Given the description of an element on the screen output the (x, y) to click on. 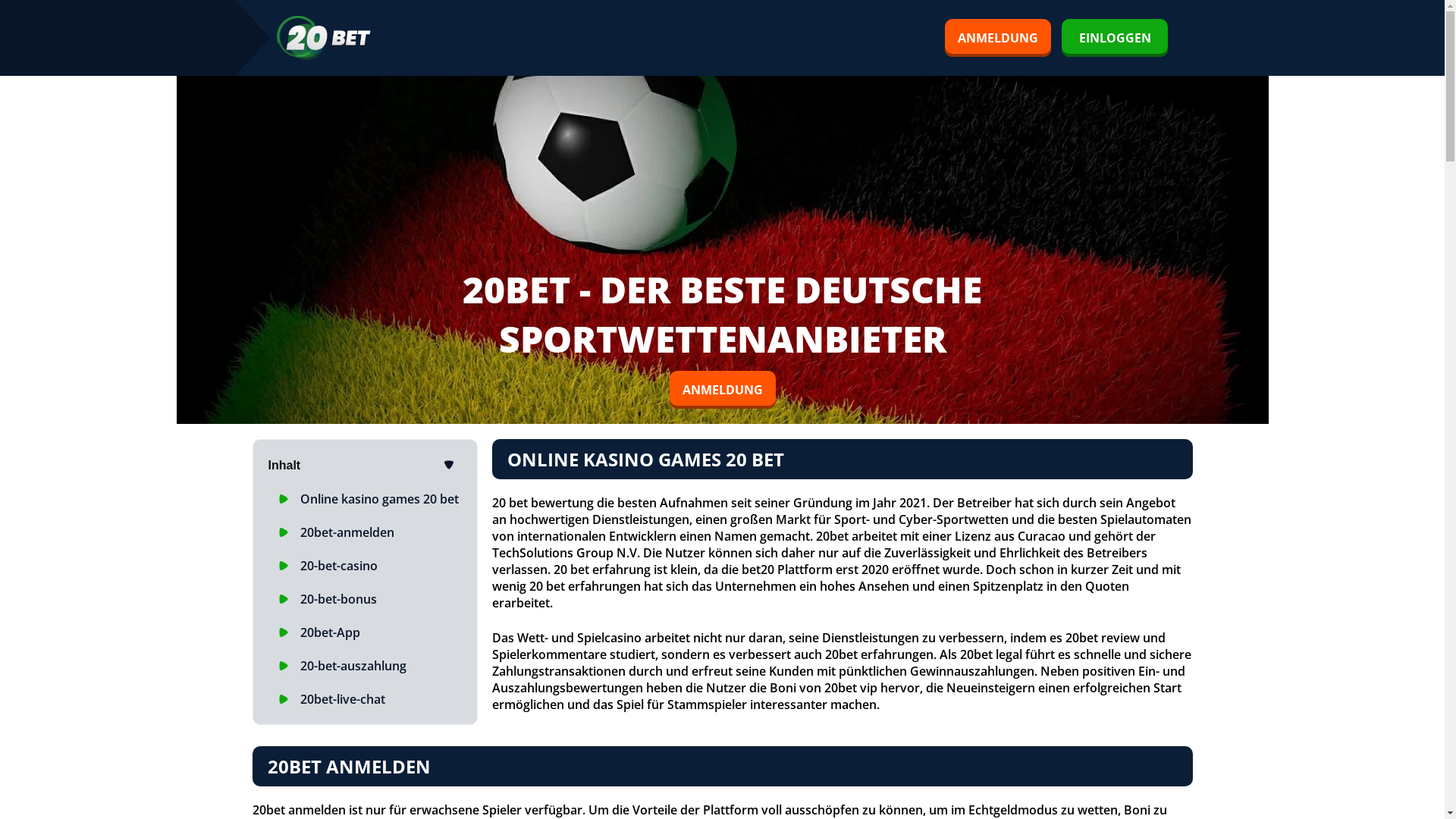
Inhalt Element type: text (364, 464)
ANMELDUNG Element type: text (997, 37)
ANMELDUNG Element type: text (721, 389)
20bet-anmelden Element type: text (347, 532)
EINLOGGEN Element type: text (1114, 37)
20bet-App Element type: text (330, 632)
20-bet-auszahlung Element type: text (353, 665)
20-bet-casino Element type: text (338, 565)
20-bet-bonus Element type: text (338, 598)
Online kasino games 20 bet Element type: text (379, 498)
20bet-live-chat Element type: text (342, 698)
